Given the description of an element on the screen output the (x, y) to click on. 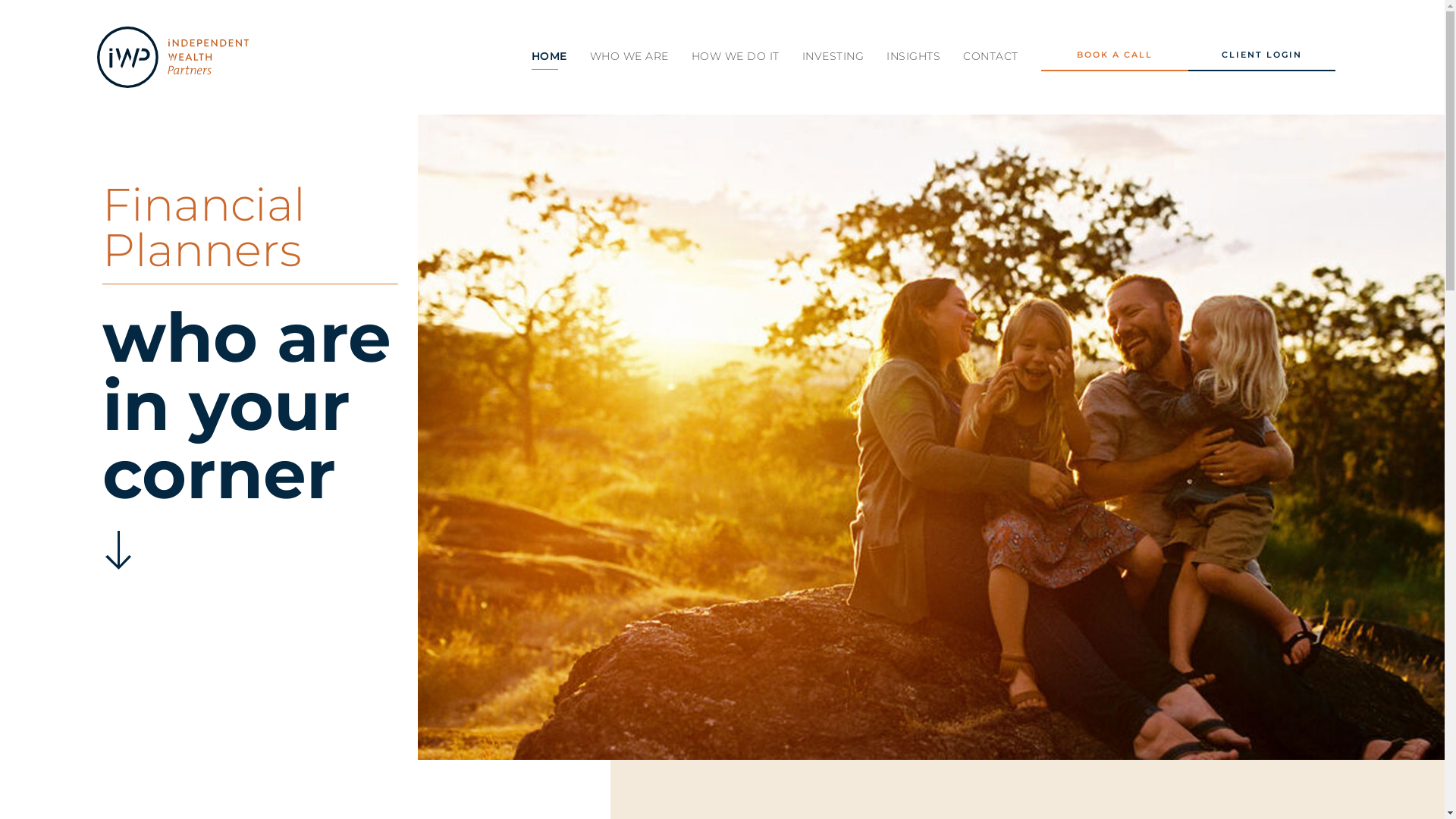
WHO WE ARE Element type: text (628, 55)
HOW WE DO IT Element type: text (735, 55)
BOOK A CALL Element type: text (1114, 58)
INSIGHTS Element type: text (913, 55)
CONTACT Element type: text (990, 55)
CLIENT LOGIN Element type: text (1261, 58)
INVESTING Element type: text (833, 55)
HOME Element type: text (549, 55)
